Given the description of an element on the screen output the (x, y) to click on. 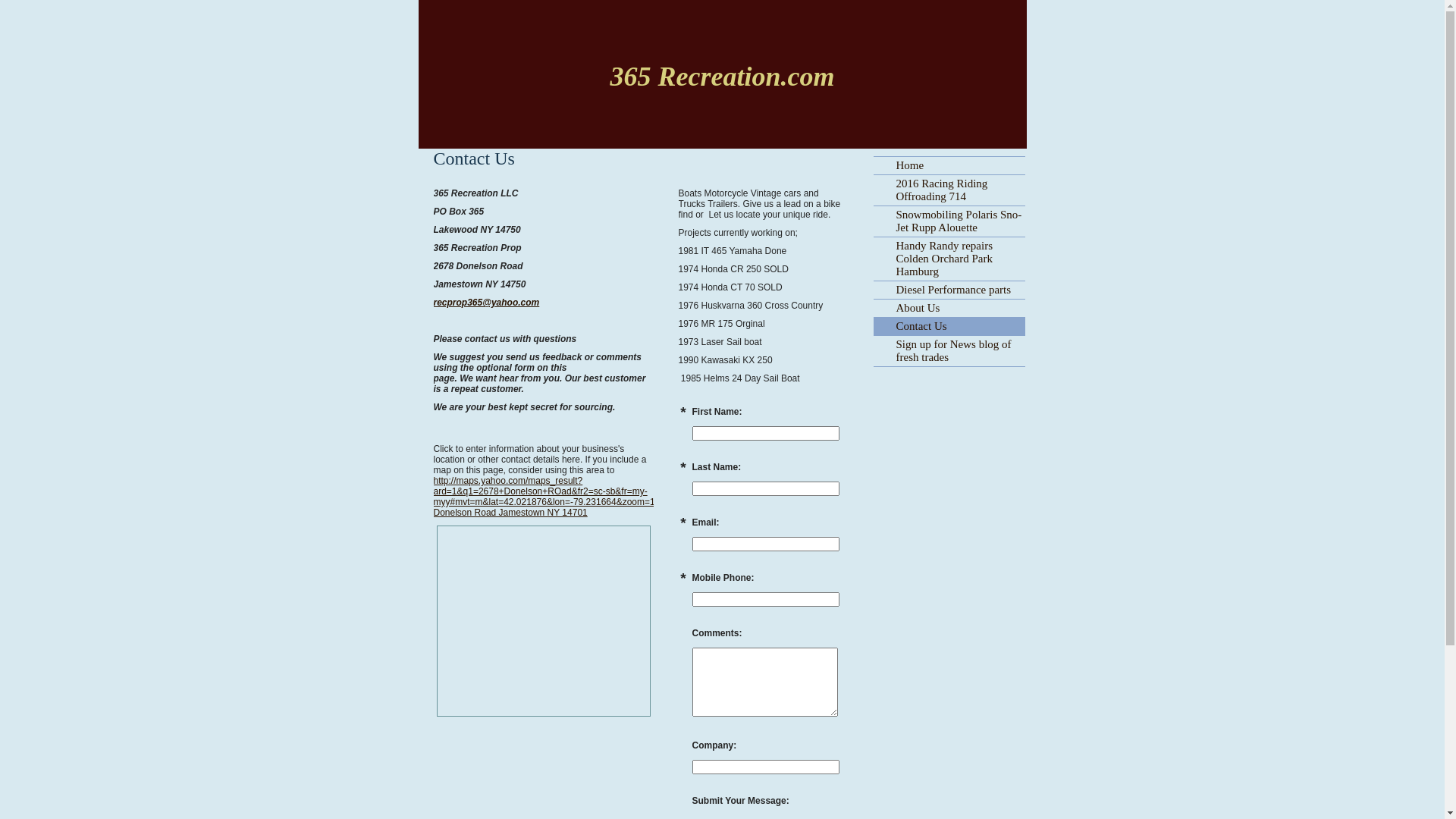
Sign up for News blog of fresh trades Element type: text (949, 350)
About Us Element type: text (949, 307)
Home Element type: text (949, 165)
2016 Racing Riding Offroading 714 Element type: text (949, 190)
recprop365@yahoo.com Element type: text (486, 302)
Diesel Performance parts Element type: text (949, 289)
Snowmobiling Polaris Sno-Jet Rupp Alouette Element type: text (949, 221)
Contact Us Element type: text (949, 326)
Handy Randy repairs Colden Orchard Park Hamburg Element type: text (949, 258)
